Given the description of an element on the screen output the (x, y) to click on. 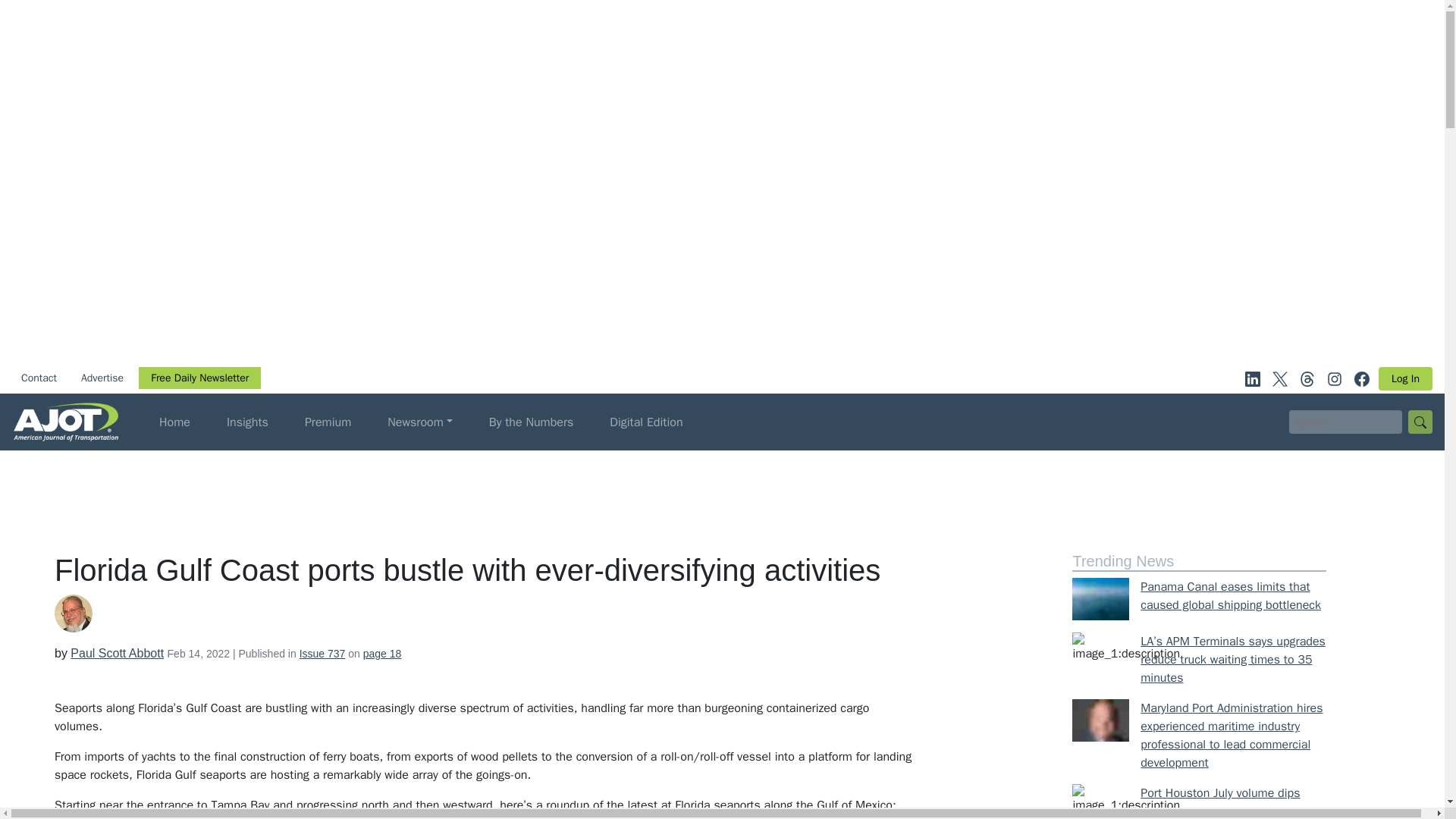
Issue 737 (322, 653)
Advertise (101, 377)
Newsroom (419, 422)
Paul Scott Abbott (116, 653)
Insights (248, 422)
Home (174, 422)
Log In (1405, 378)
Premium (327, 422)
Free Daily Newsletter (199, 377)
Contact (38, 377)
